Given the description of an element on the screen output the (x, y) to click on. 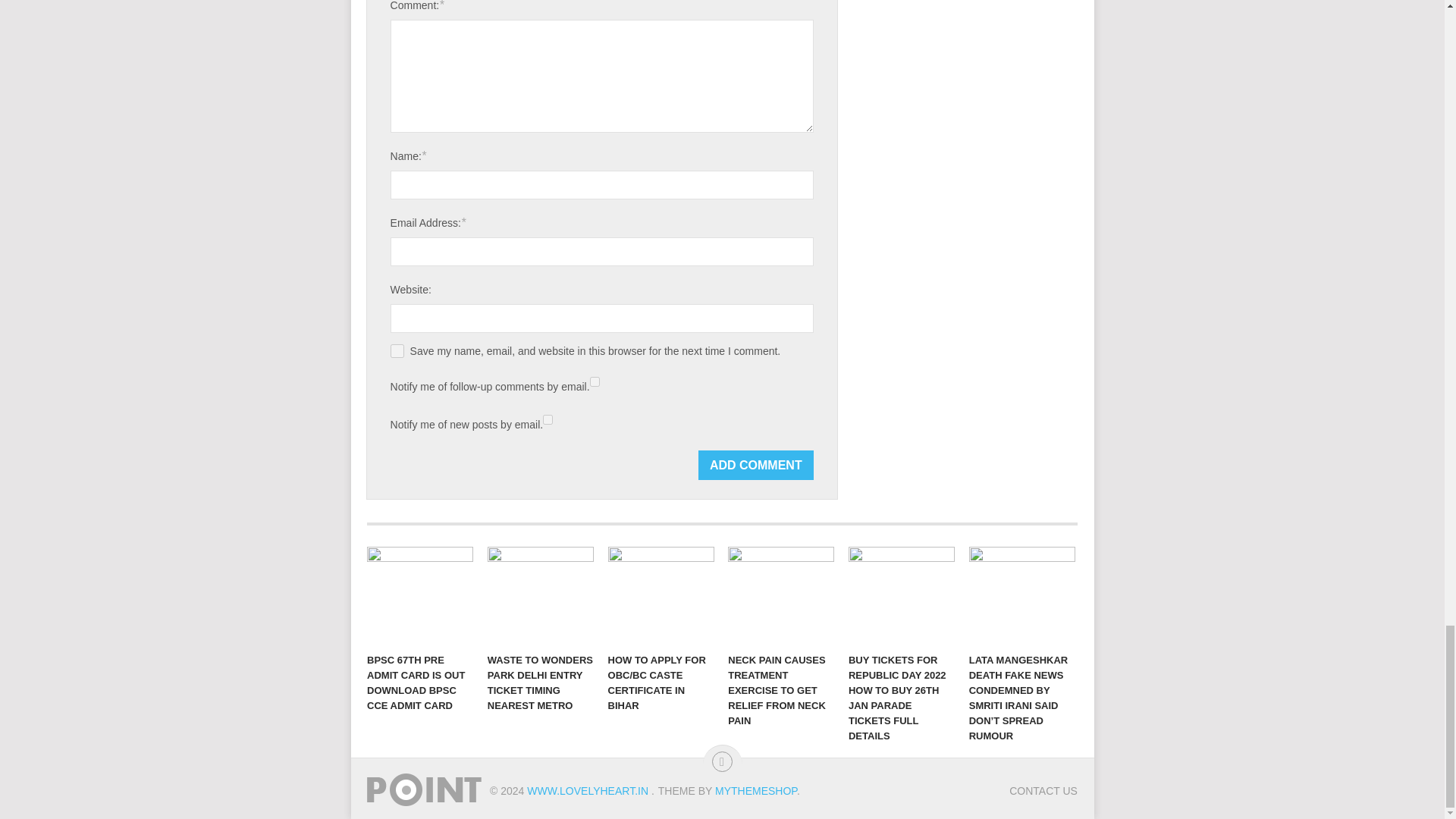
yes (397, 350)
subscribe (594, 381)
subscribe (548, 419)
Add Comment (755, 464)
